Given the description of an element on the screen output the (x, y) to click on. 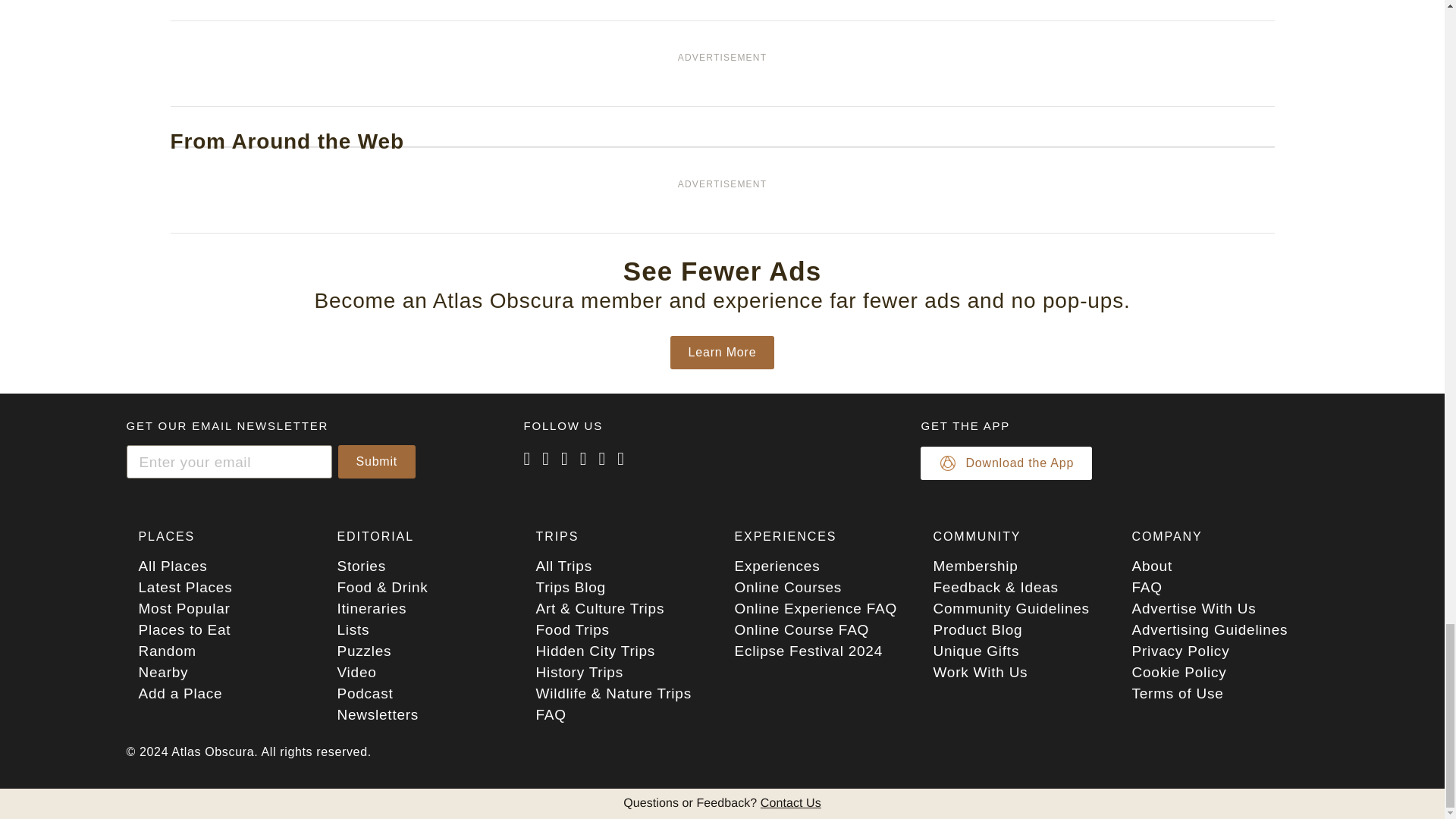
Submit (376, 461)
